Given the description of an element on the screen output the (x, y) to click on. 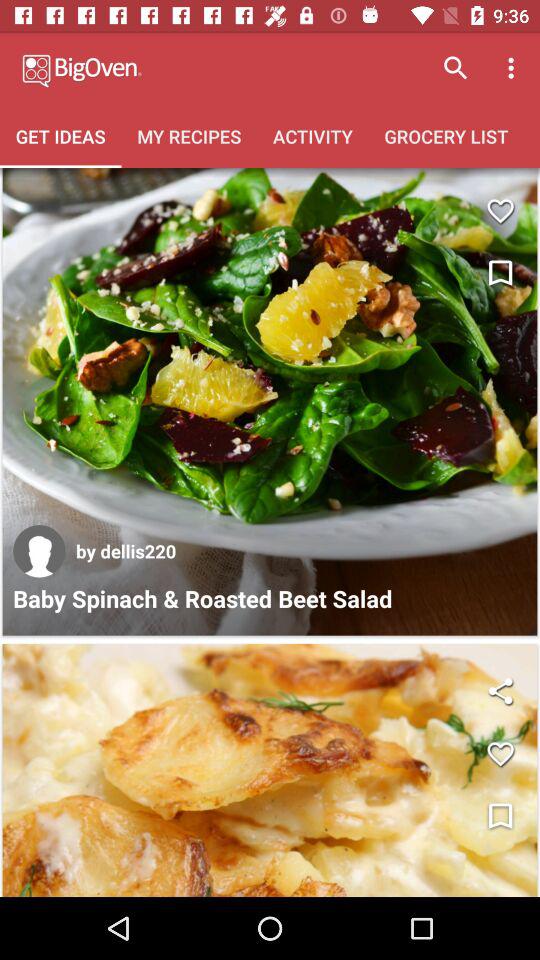
flip until the by dellis220 icon (126, 550)
